Given the description of an element on the screen output the (x, y) to click on. 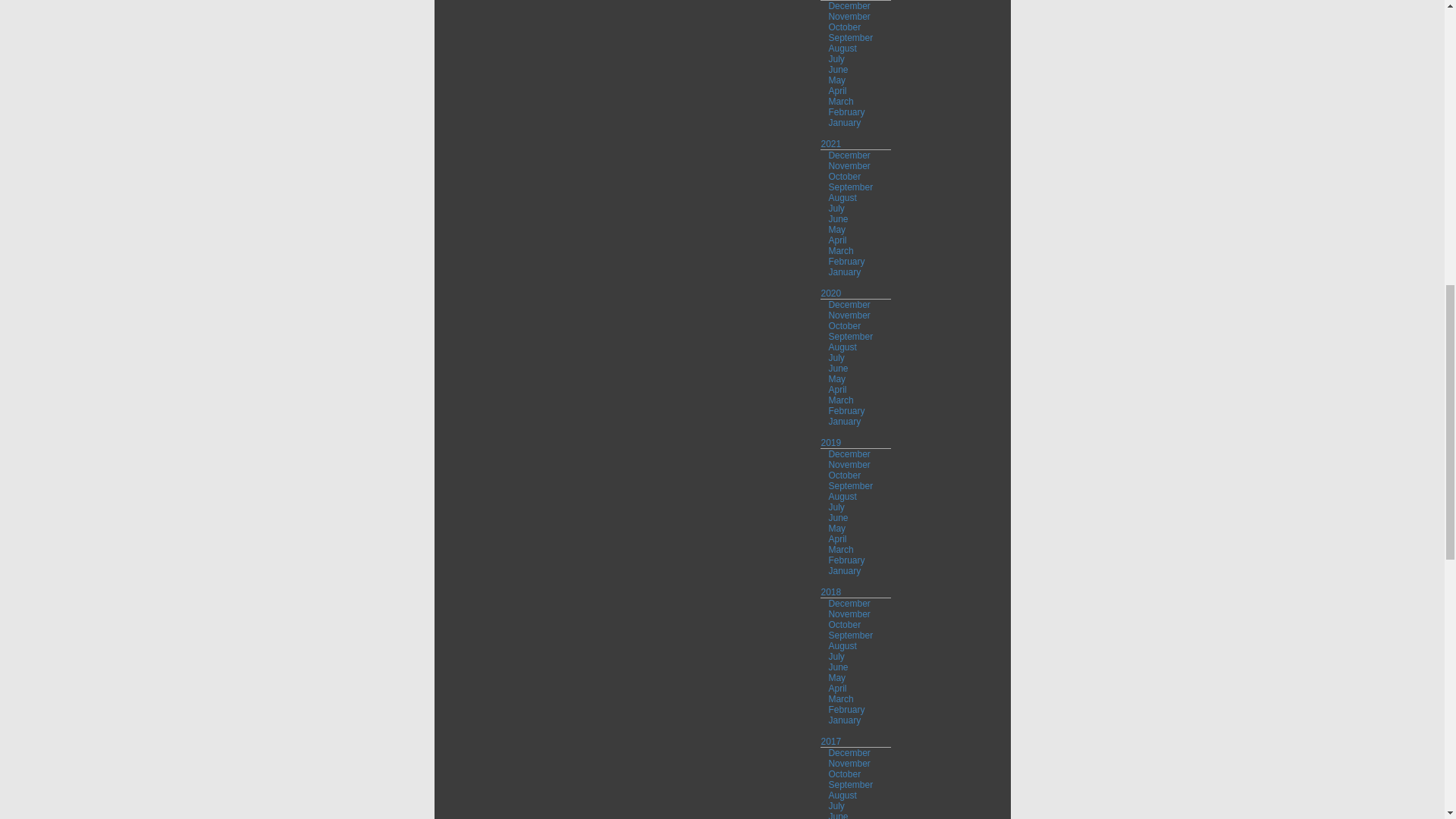
October (844, 27)
November (848, 16)
December (848, 5)
August (842, 48)
September (850, 37)
